Given the description of an element on the screen output the (x, y) to click on. 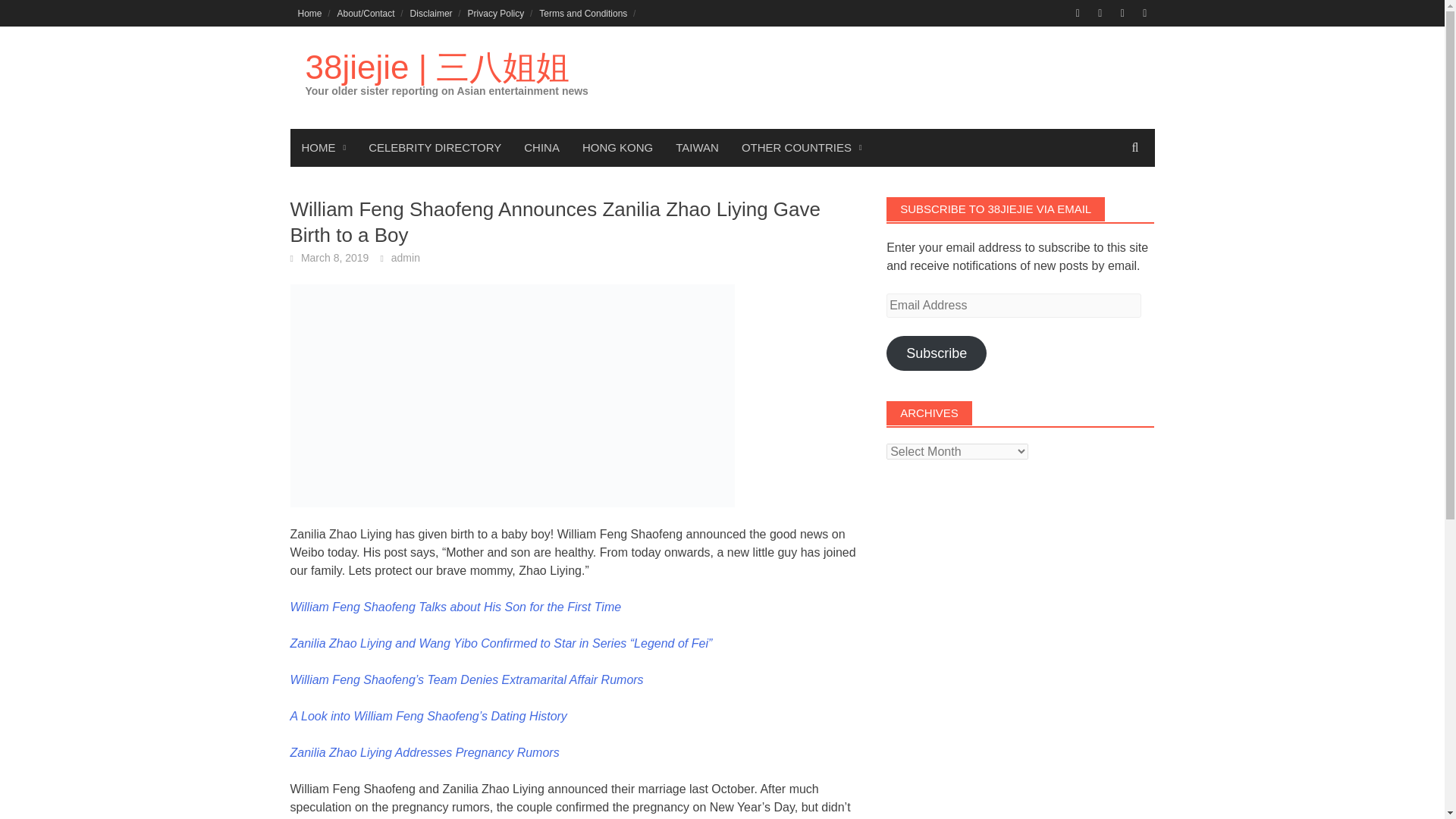
HOME (322, 147)
Privacy Policy (496, 13)
Disclaimer (431, 13)
TAIWAN (696, 147)
Terms and Conditions (582, 13)
admin (405, 257)
CELEBRITY DIRECTORY (434, 147)
March 8, 2019 (335, 257)
CHINA (541, 147)
William Feng Shaofeng Talks about His Son for the First Time (455, 606)
